Given the description of an element on the screen output the (x, y) to click on. 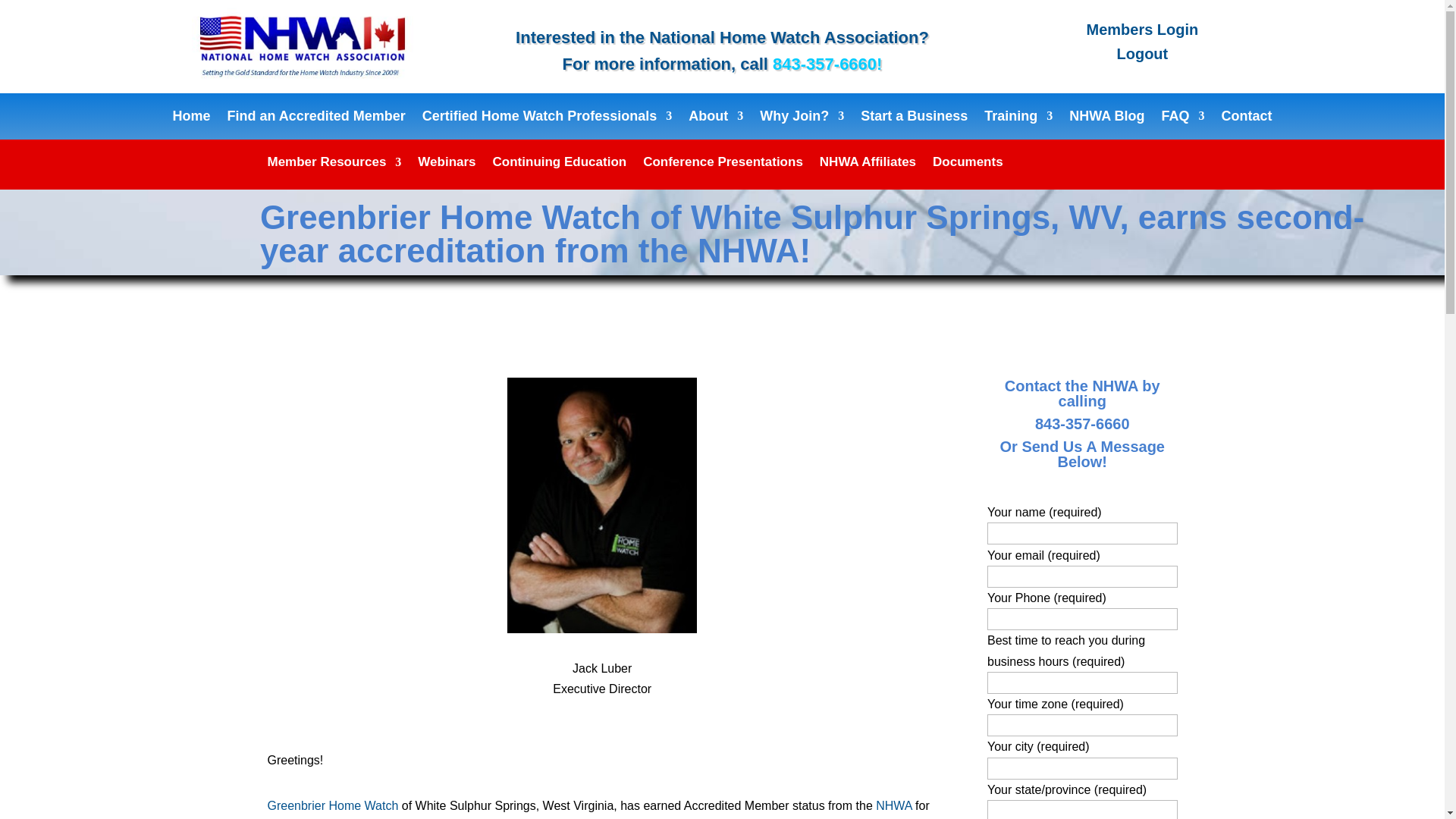
Training (1018, 118)
About (715, 118)
Home (190, 118)
FAQ (1183, 118)
Contact (1246, 118)
Find an Accredited Member (315, 118)
Members Login (1142, 29)
NHWA Blog (1106, 118)
Start a Business (914, 118)
Logout (1141, 53)
Certified Home Watch Professionals (546, 118)
843-357-6660 (824, 63)
Why Join? (802, 118)
